Given the description of an element on the screen output the (x, y) to click on. 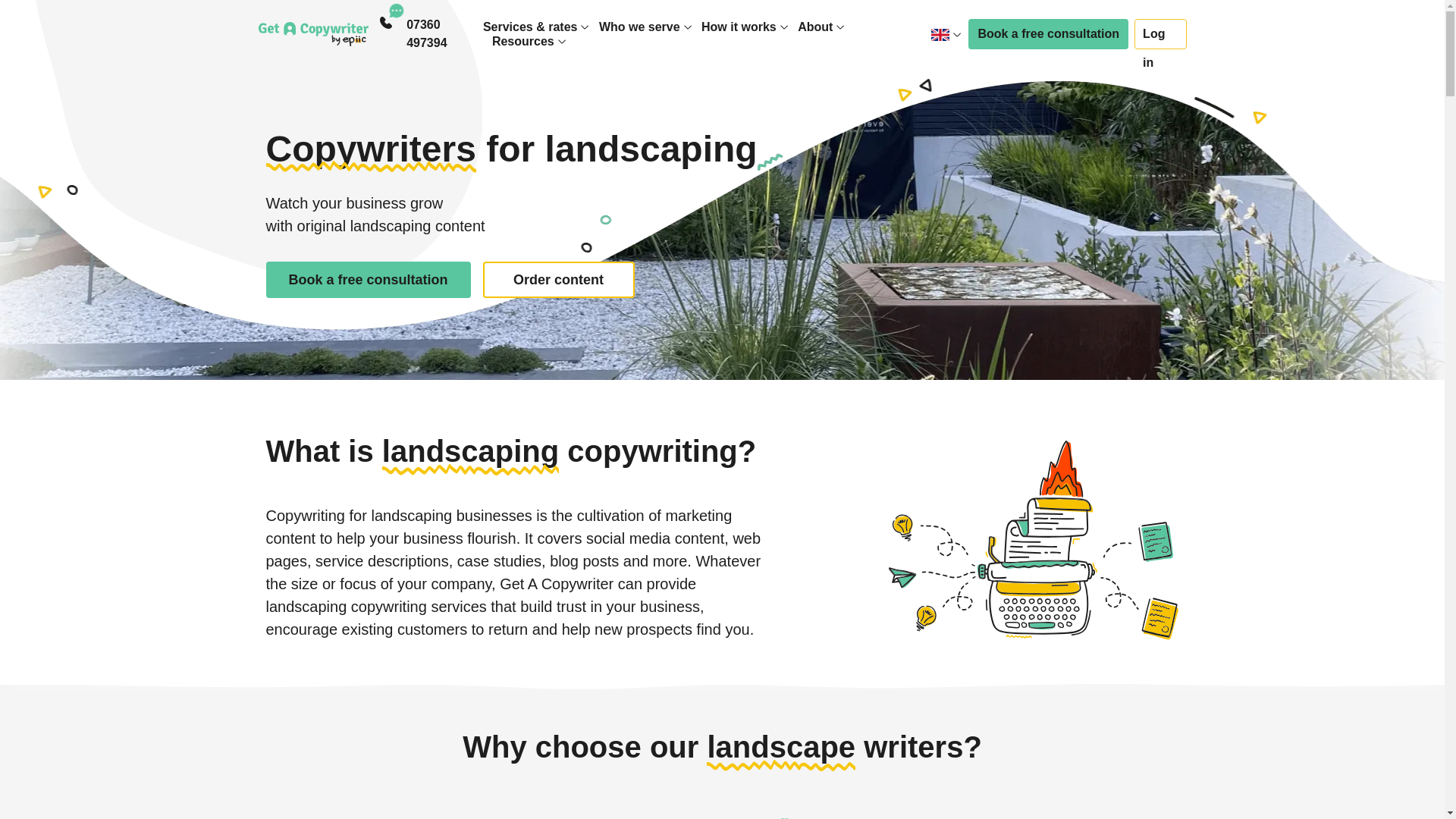
Resources (523, 41)
07360 497394 (444, 33)
Get a copywriter (312, 33)
About (814, 26)
How it works (738, 26)
Who we serve (638, 26)
phone number (444, 33)
